Given the description of an element on the screen output the (x, y) to click on. 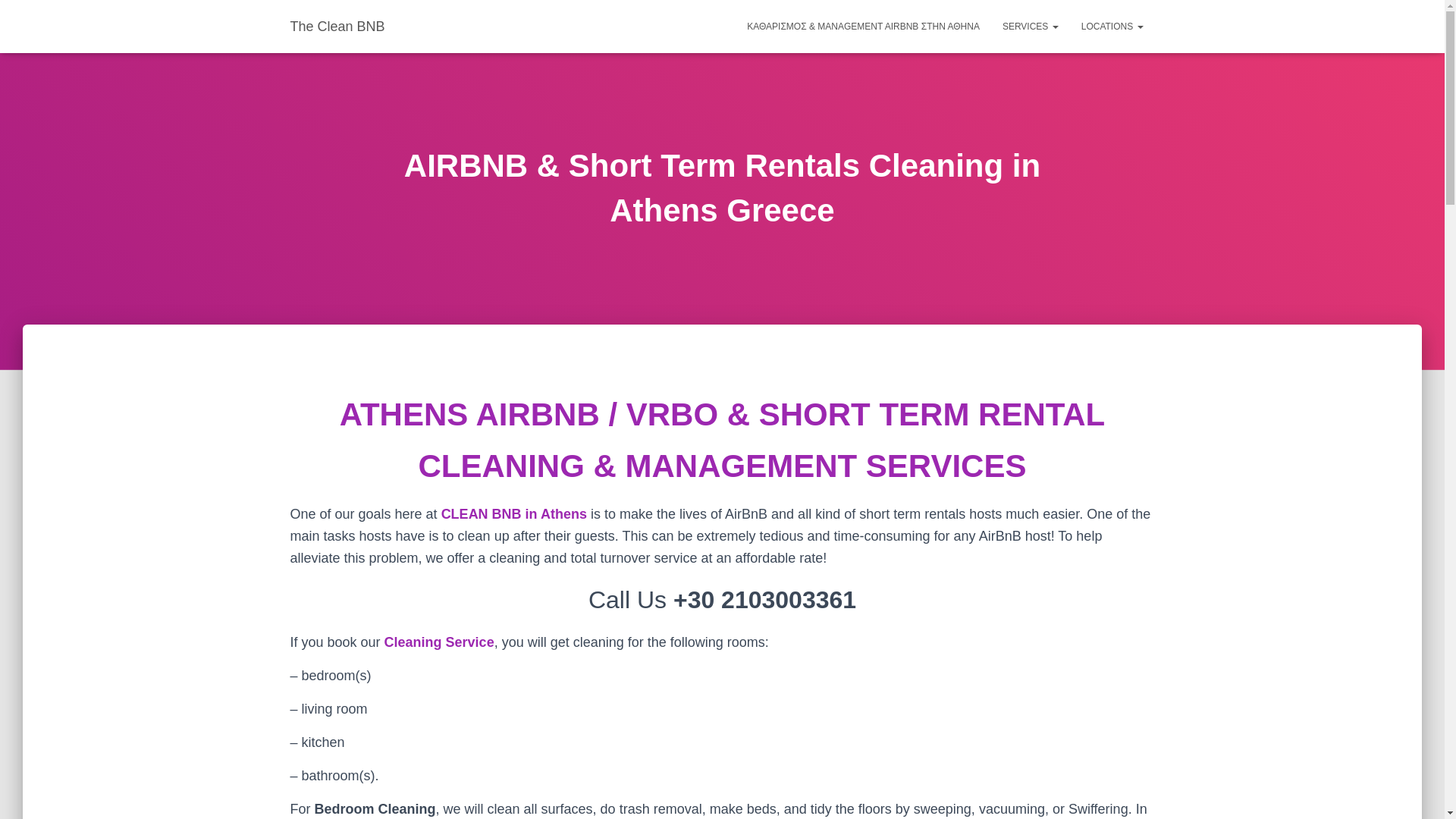
Services (1030, 26)
SERVICES (1030, 26)
CLEAN BNB in Athens (516, 513)
The Clean BNB (337, 26)
Locations (1112, 26)
LOCATIONS (1112, 26)
The Clean BNB (337, 26)
Cleaning Service (439, 642)
